Given the description of an element on the screen output the (x, y) to click on. 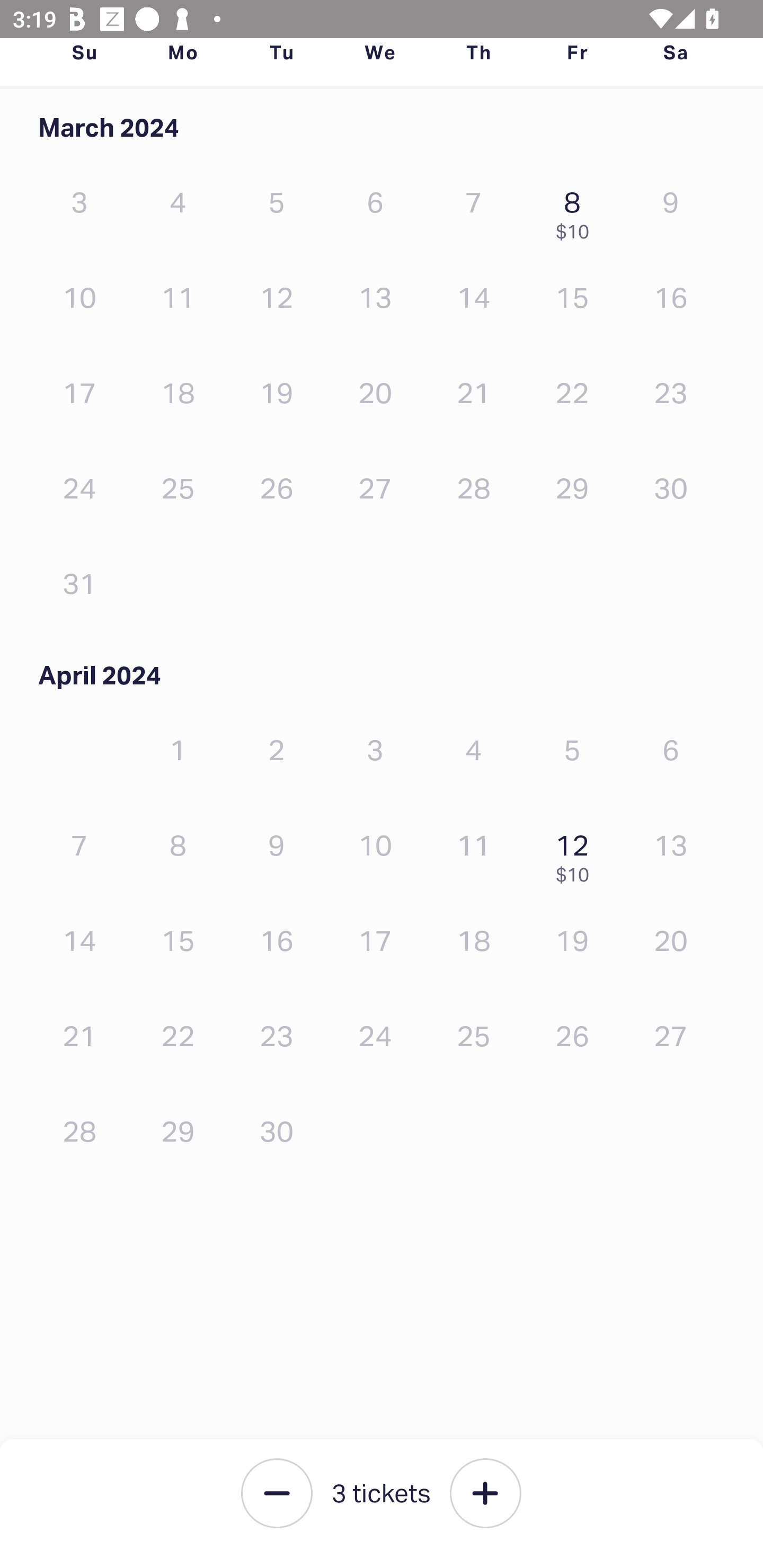
8 $10 (577, 210)
12 $10 (577, 853)
